Given the description of an element on the screen output the (x, y) to click on. 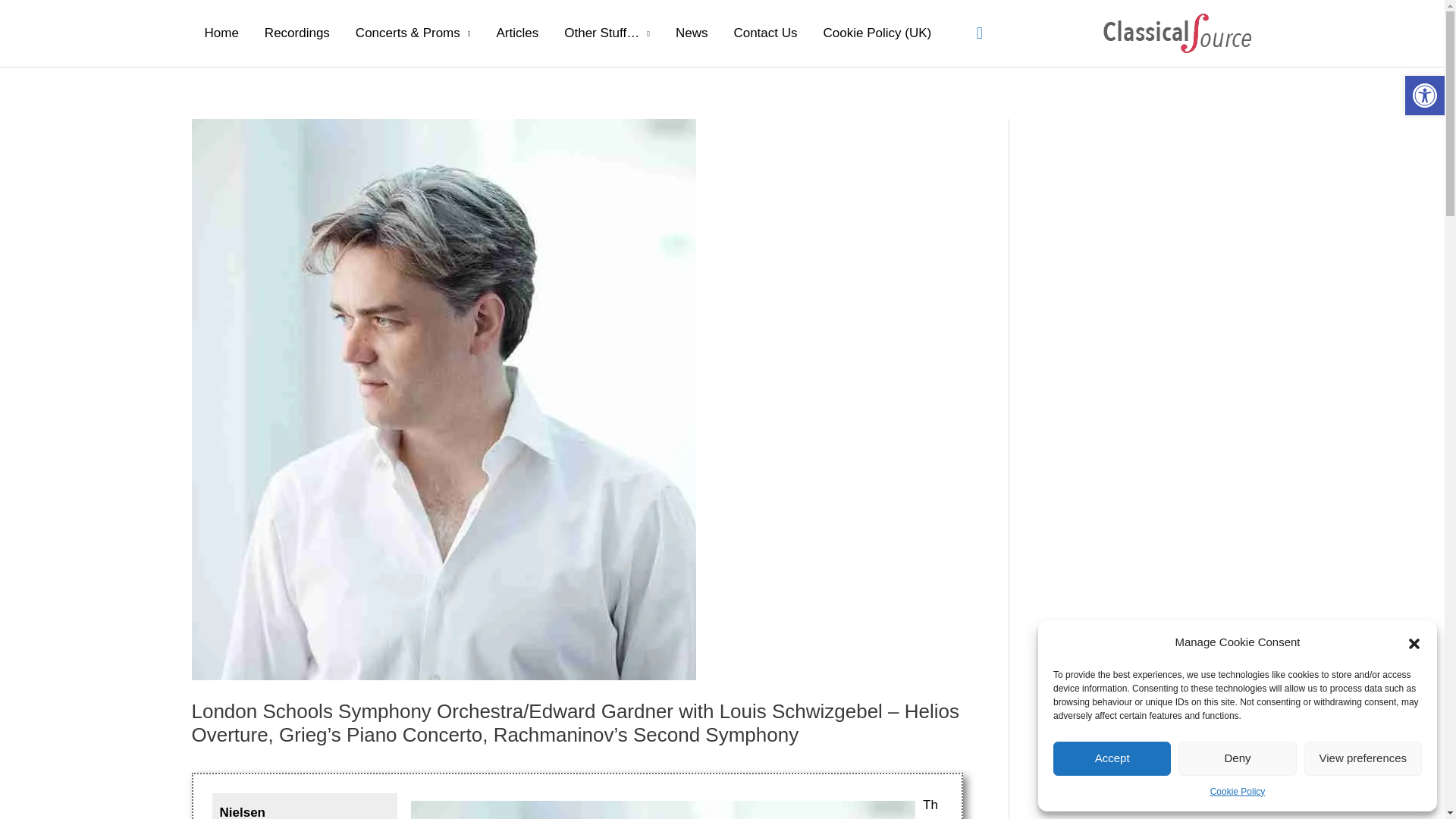
Articles (517, 33)
Recordings (296, 33)
View preferences (1363, 758)
Cookie Policy (1237, 791)
Accept (1111, 758)
Home (220, 33)
Deny (1236, 758)
Accessibility Tools (1424, 95)
